Given the description of an element on the screen output the (x, y) to click on. 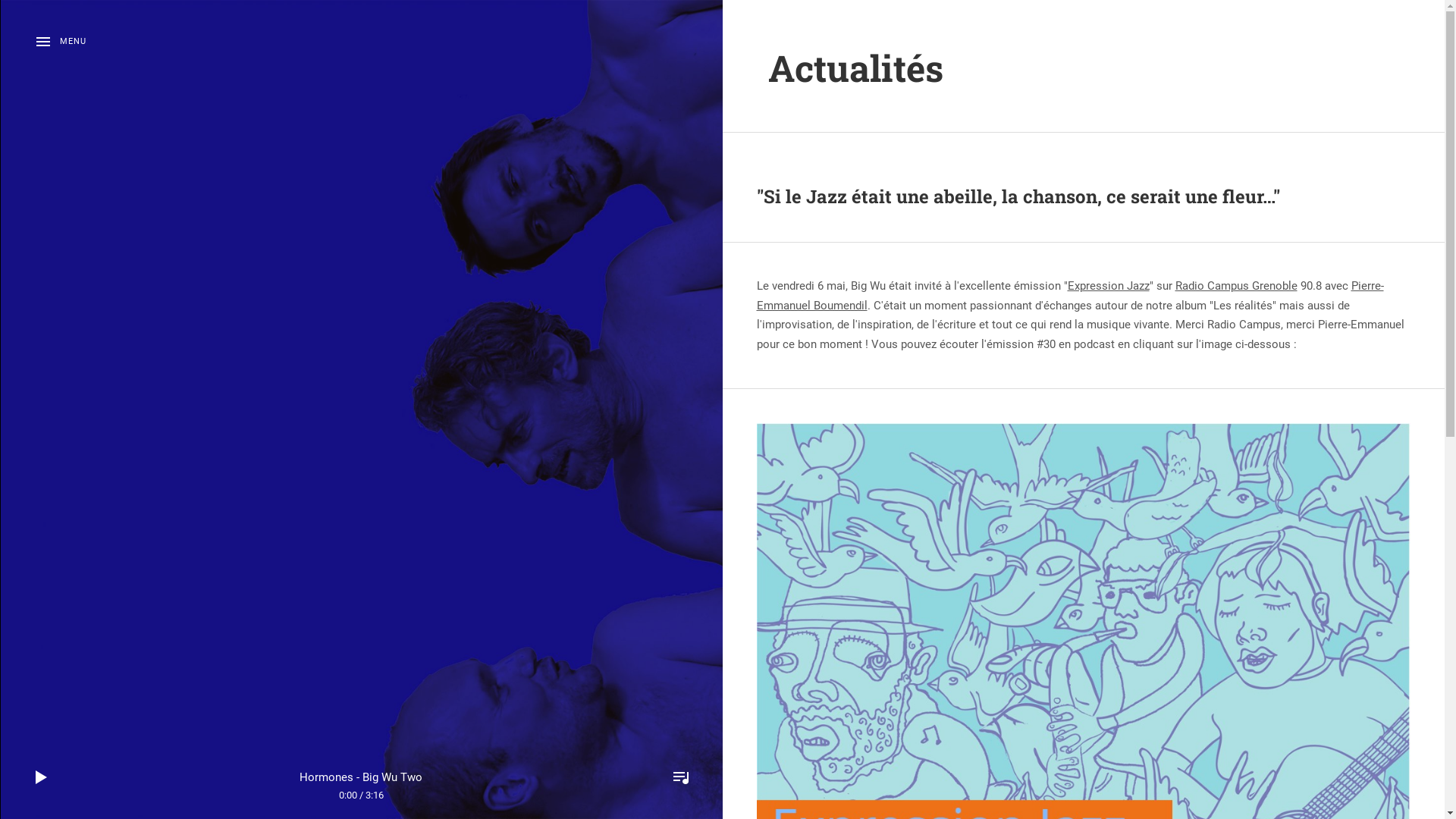
PLAY Element type: text (41, 777)
TOGGLE PLAYER Element type: text (680, 777)
Expression Jazz Element type: text (1108, 285)
MENU Element type: text (60, 41)
Radio Campus Grenoble Element type: text (1236, 285)
Pierre-Emmanuel Boumendil Element type: text (1069, 295)
